Given the description of an element on the screen output the (x, y) to click on. 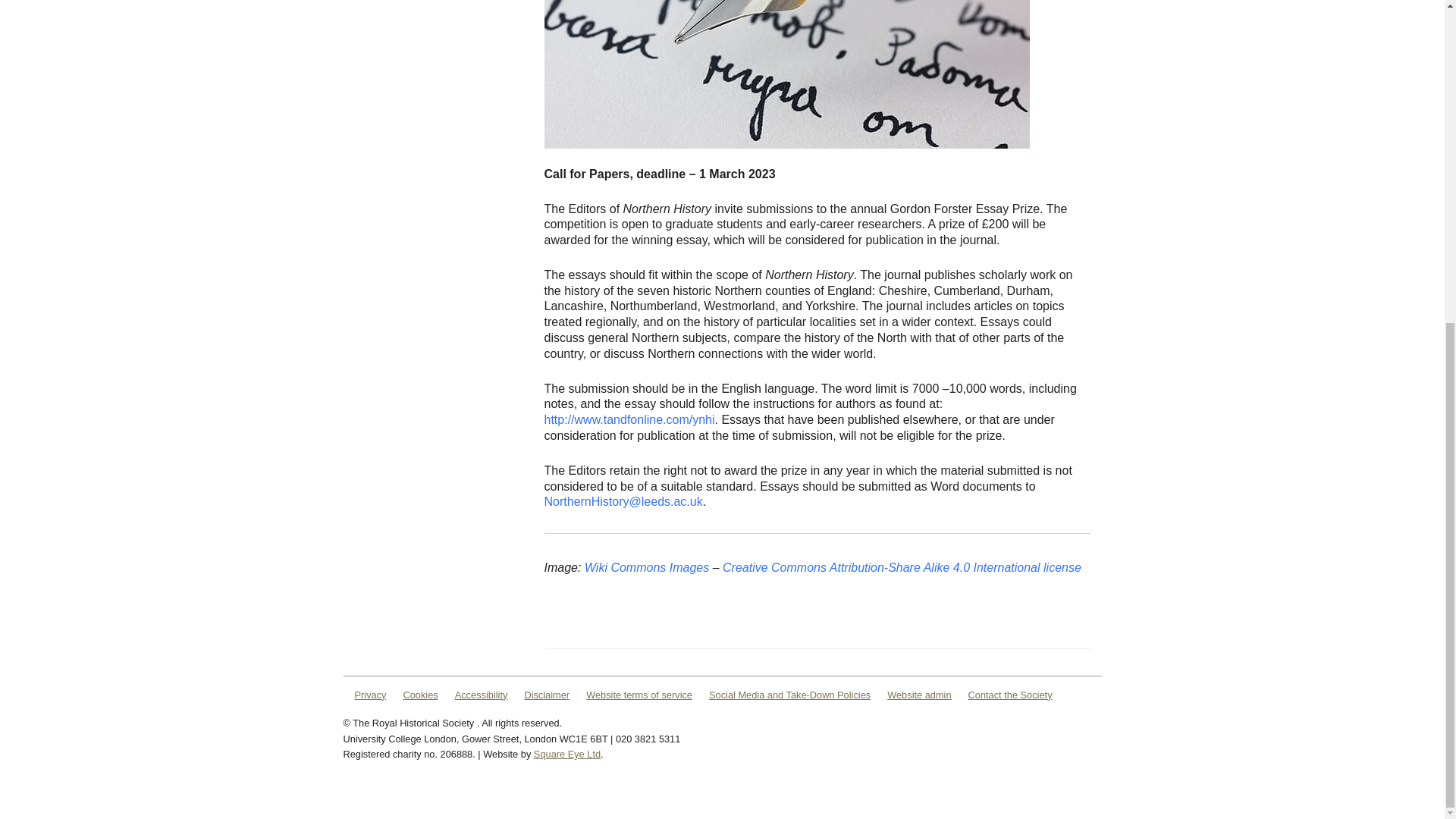
Disclaimer (546, 694)
Contact the Society (1010, 694)
Website terms of service (639, 694)
Wiki Commons Images (647, 567)
Social Media and Take-Down Policies (789, 694)
Website admin (918, 694)
Square Eye Ltd (566, 754)
Privacy (371, 694)
Accessibility (481, 694)
